Given the description of an element on the screen output the (x, y) to click on. 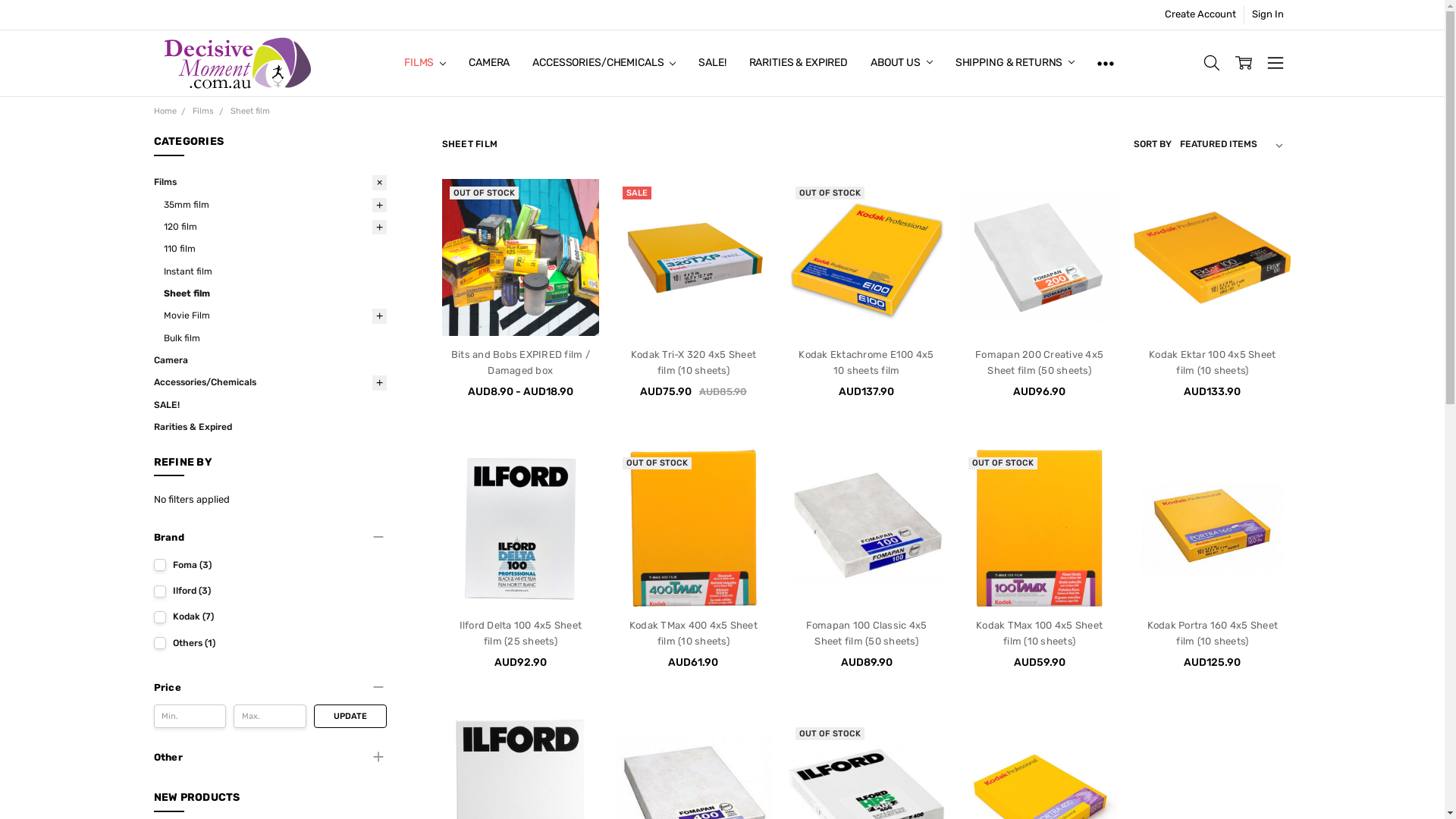
Sign In Element type: text (1267, 14)
DecisiveMoment Element type: hover (237, 63)
SHIPPING & RETURNS Element type: text (1014, 62)
Bits and Bobs EXPIRED film / Damaged box Element type: hover (520, 256)
Bulk film Element type: text (274, 338)
Fomapan 200 Creative 4x5 Sheet film (50 sheets) Element type: hover (1038, 257)
Kodak TMax 100 4x5 Sheet film (10 sheets) Element type: hover (1038, 527)
Kodak Tri-X 320 4x5 Sheet film (10 sheets) Element type: hover (693, 257)
Foma (3) Element type: text (269, 565)
Kodak Ektachrome E100 4x5 10 sheets film Element type: text (865, 362)
Kodak Portra 160 4x5 Sheet film (10 sheets) Element type: text (1212, 632)
Accessories/Chemicals Element type: text (269, 382)
Kodak TMax 400 4x5 Sheet film (10 sheets) Element type: text (693, 632)
ACCESSORIES/CHEMICALS Element type: text (603, 62)
Films Element type: text (269, 182)
Kodak Ektar 100 4x5 Sheet film (10 sheets) Element type: text (1211, 362)
Create Account Element type: text (1200, 14)
Fomapan 100 Classic 4x5 Sheet film (50 sheets) Element type: text (866, 632)
Kodak (7) Element type: text (269, 616)
Kodak TMax 100 4x5 Sheet film (10 sheets) Element type: text (1038, 632)
SALE! Element type: text (712, 62)
Ilford Delta 100 4x5 Sheet film (25 sheets) Element type: hover (520, 527)
FILMS Element type: text (424, 62)
Rarities & Expired Element type: text (269, 427)
RARITIES & EXPIRED Element type: text (798, 62)
Camera Element type: text (269, 360)
Kodak Ektachrome E100 4x5 10 sheets film Element type: hover (865, 256)
Ilford Delta 100 4x5 Sheet film (25 sheets) Element type: text (520, 632)
CAMERA Element type: text (488, 62)
Kodak Tri-X 320 4x5 Sheet film (10 sheets) Element type: text (693, 362)
Fomapan 200 Creative 4x5 Sheet film (50 sheets) Element type: text (1039, 362)
Others (1) Element type: text (269, 643)
Ilford (3) Element type: text (269, 591)
Sheet film Element type: text (274, 293)
110 film Element type: text (274, 249)
ABOUT US Element type: text (901, 62)
SALE! Element type: text (269, 405)
Sheet film Element type: text (249, 111)
Fomapan 100 Classic 4x5 Sheet film (50 sheets) Element type: hover (865, 527)
UPDATE Element type: text (349, 716)
Films Element type: text (202, 111)
35mm film Element type: text (274, 205)
Kodak Portra 160 4x5 Sheet film (10 sheets) Element type: hover (1211, 527)
Bits and Bobs EXPIRED film / Damaged box Element type: text (520, 362)
Home Element type: text (164, 111)
Kodak TMax 400 4x5 Sheet film (10 sheets) Element type: hover (693, 527)
Instant film Element type: text (274, 271)
Show All Element type: hover (1105, 62)
Kodak Ektar 100 4x5 Sheet film (10 sheets) Element type: hover (1211, 256)
Movie Film Element type: text (274, 315)
120 film Element type: text (274, 227)
